Given the description of an element on the screen output the (x, y) to click on. 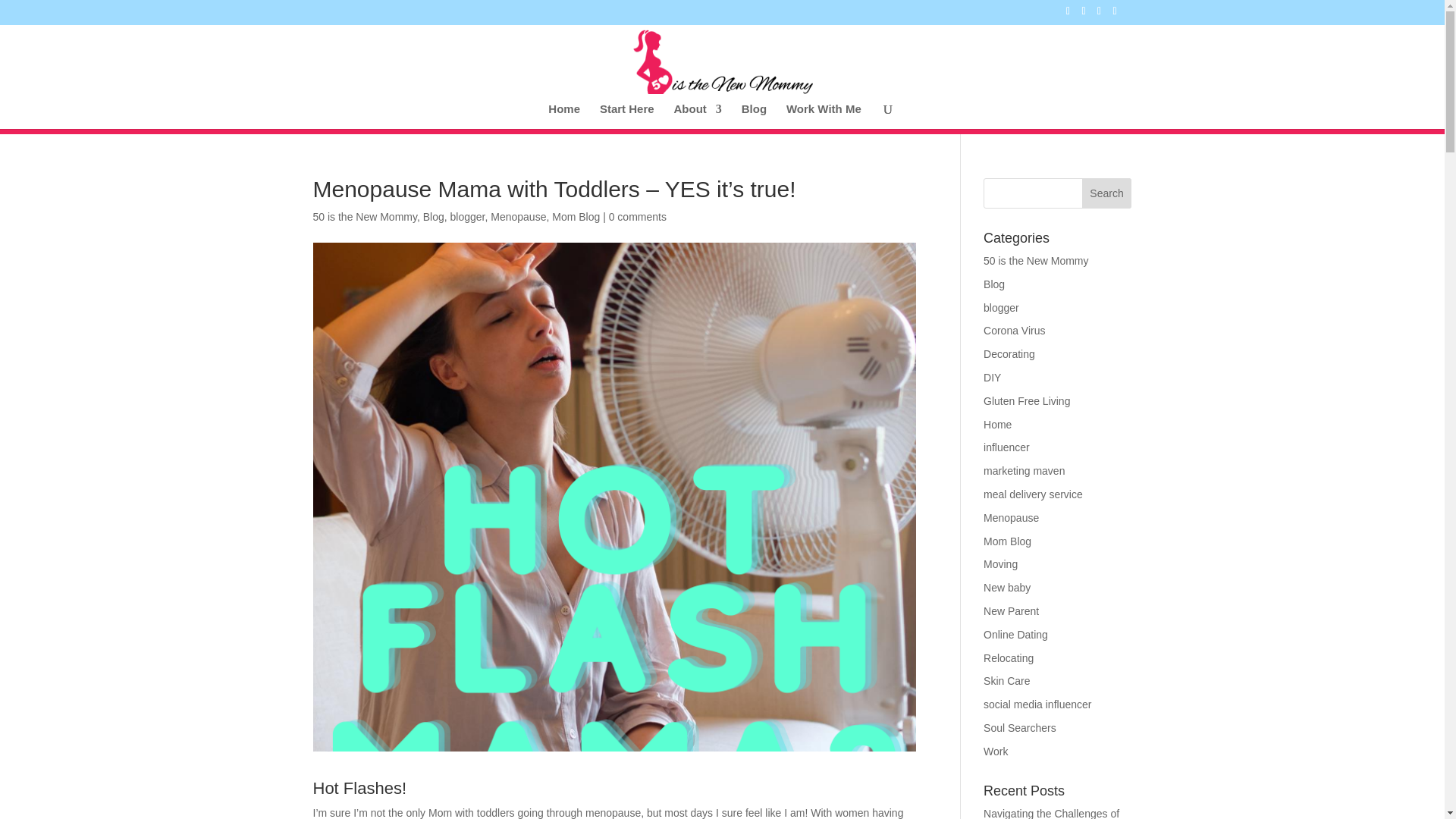
influencer (1006, 447)
blogger (466, 216)
Home (997, 424)
Start Here (626, 116)
Search (1106, 193)
Search (1106, 193)
50 is the New Mommy (1035, 260)
Menopause (1011, 517)
Work With Me (823, 116)
marketing maven (1024, 470)
About (698, 116)
Corona Virus (1014, 330)
Gluten Free Living (1027, 400)
DIY (992, 377)
Decorating (1009, 354)
